Given the description of an element on the screen output the (x, y) to click on. 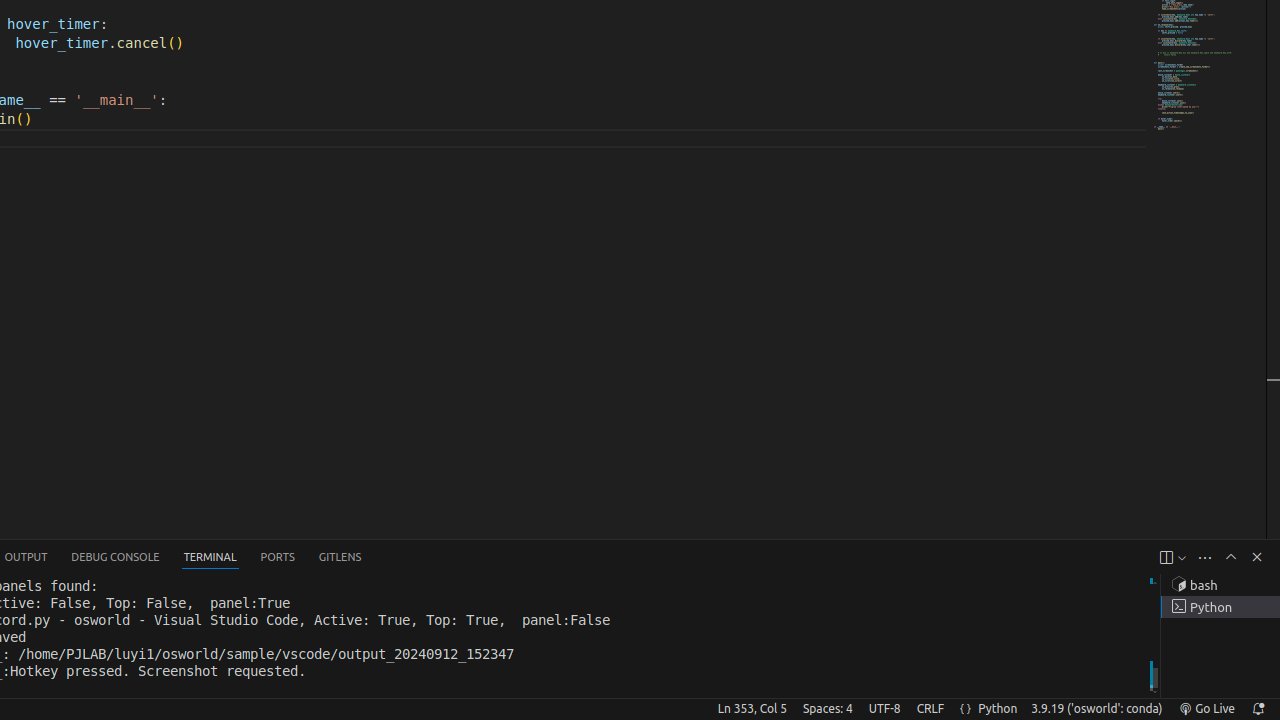
Split Terminal (Ctrl+Shift+5) Element type: push-button (1166, 557)
3.9.19 ('osworld': conda), ~/anaconda3/envs/osworld/bin/python Element type: push-button (1097, 709)
Terminal 5 Python Element type: list-item (1220, 607)
Editor Language Status: Auto Import Completions: false, next: Type Checking: off Element type: push-button (965, 709)
Spaces: 4 Element type: push-button (827, 709)
